Given the description of an element on the screen output the (x, y) to click on. 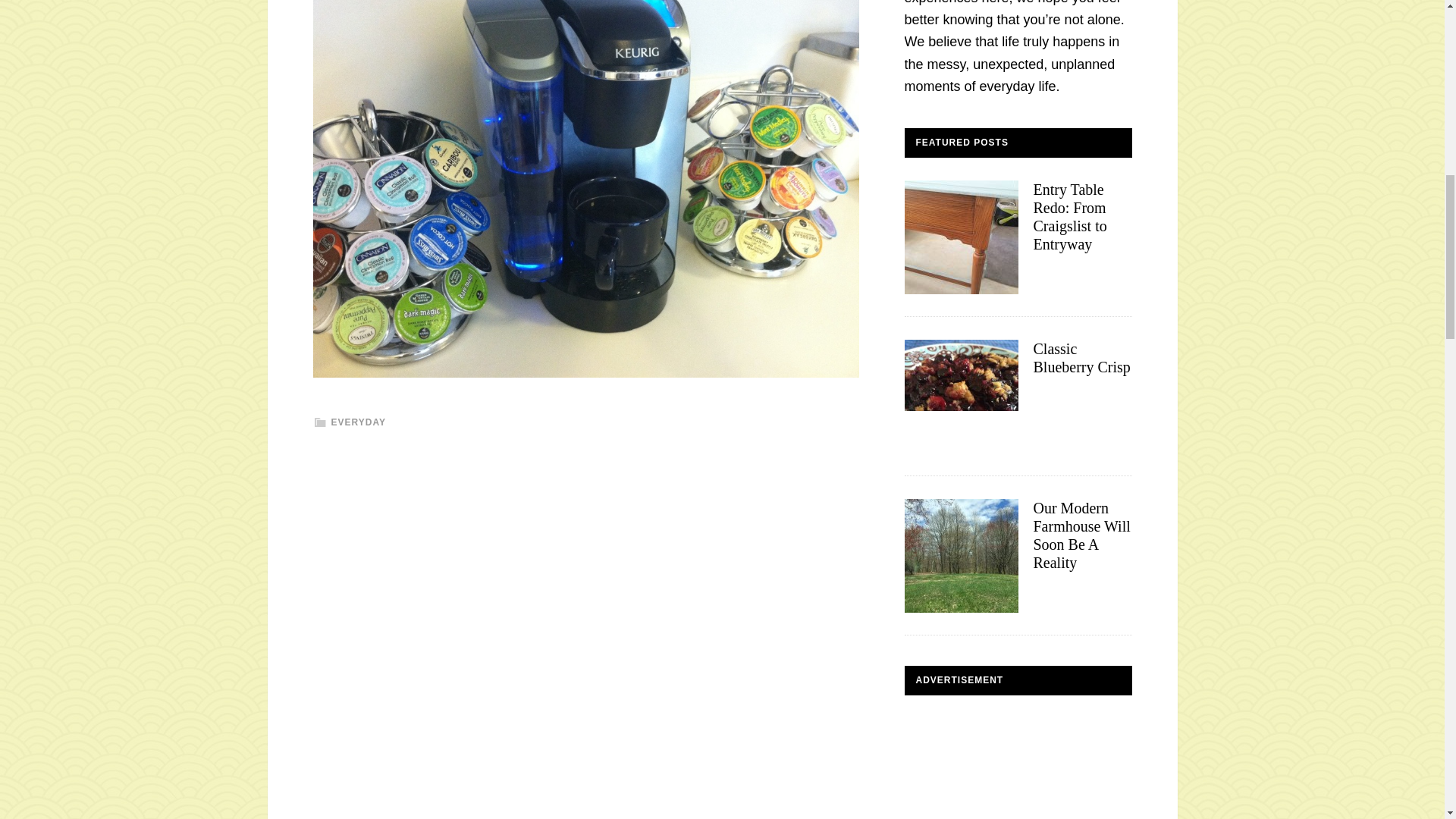
Our Modern Farmhouse Will Soon Be A Reality (1080, 534)
Entry Table Redo: From Craigslist to Entryway (1069, 216)
EVERYDAY (357, 421)
Classic Blueberry Crisp (1080, 357)
